Given the description of an element on the screen output the (x, y) to click on. 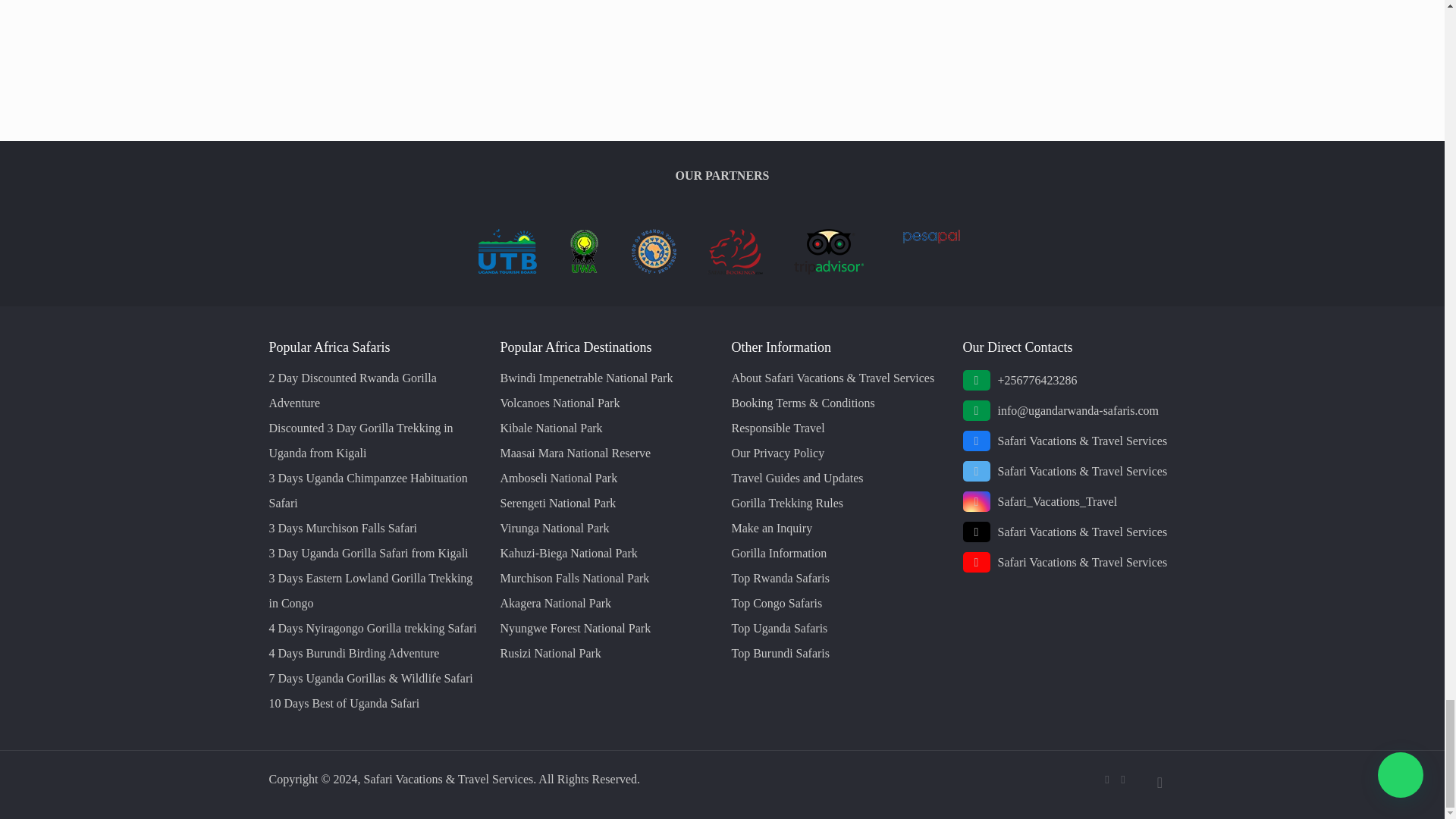
Association of Uganda Tour Operators (653, 270)
Uganda Wildlife Authority (584, 270)
Safari Bookings (735, 270)
WhatsApp (1106, 779)
LinkedIn (1123, 779)
Trip Advisor (828, 270)
Uganda Tourism Board (507, 270)
